Given the description of an element on the screen output the (x, y) to click on. 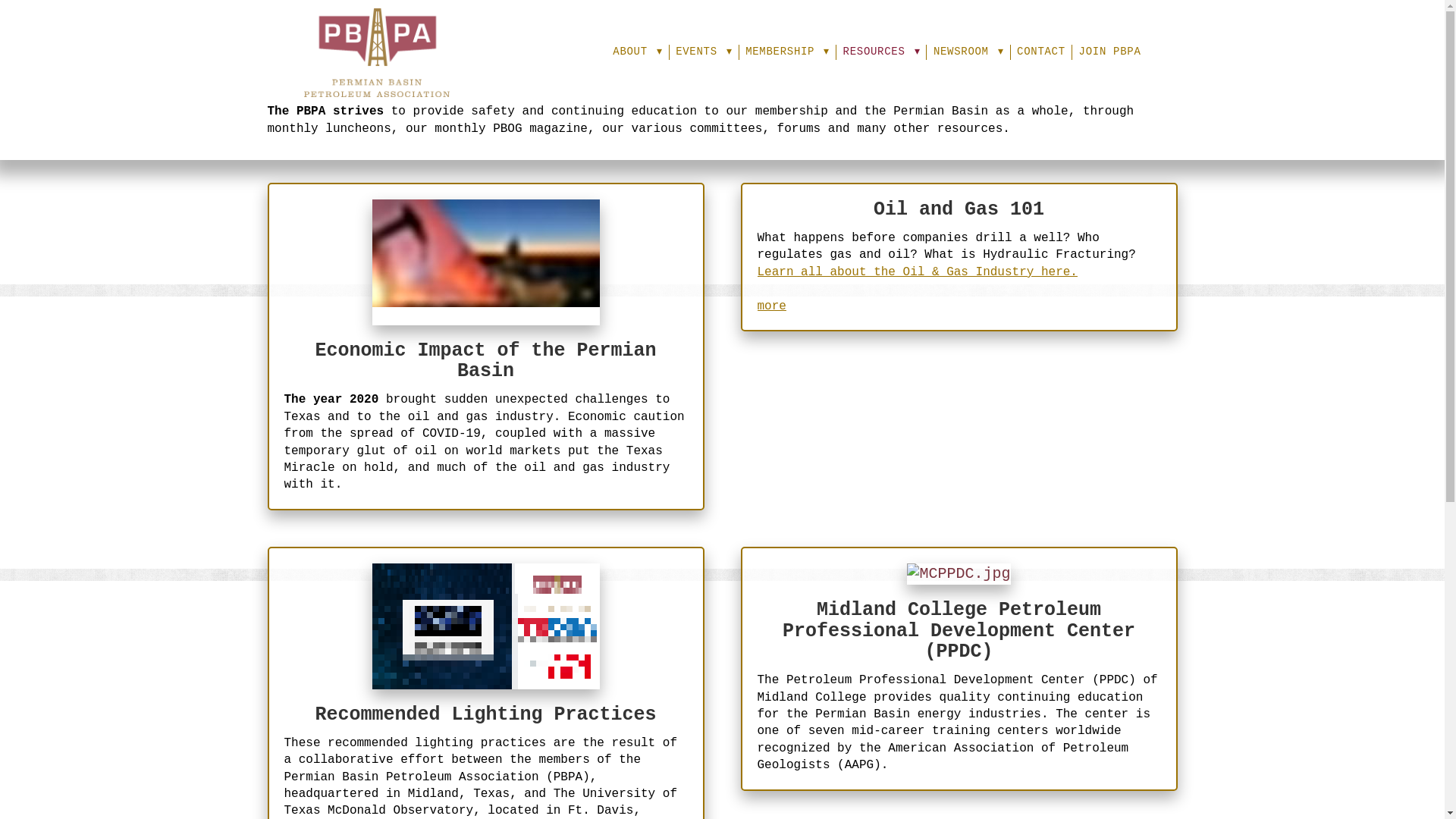
Oil and Gas 101 (958, 209)
JOIN PBPA (1109, 52)
Recommended Lighting Practices (485, 714)
more (771, 305)
Economic Impact of the Permian Basin (485, 361)
CONTACT (1040, 52)
Permian Basin Petroleum Association (375, 52)
